Given the description of an element on the screen output the (x, y) to click on. 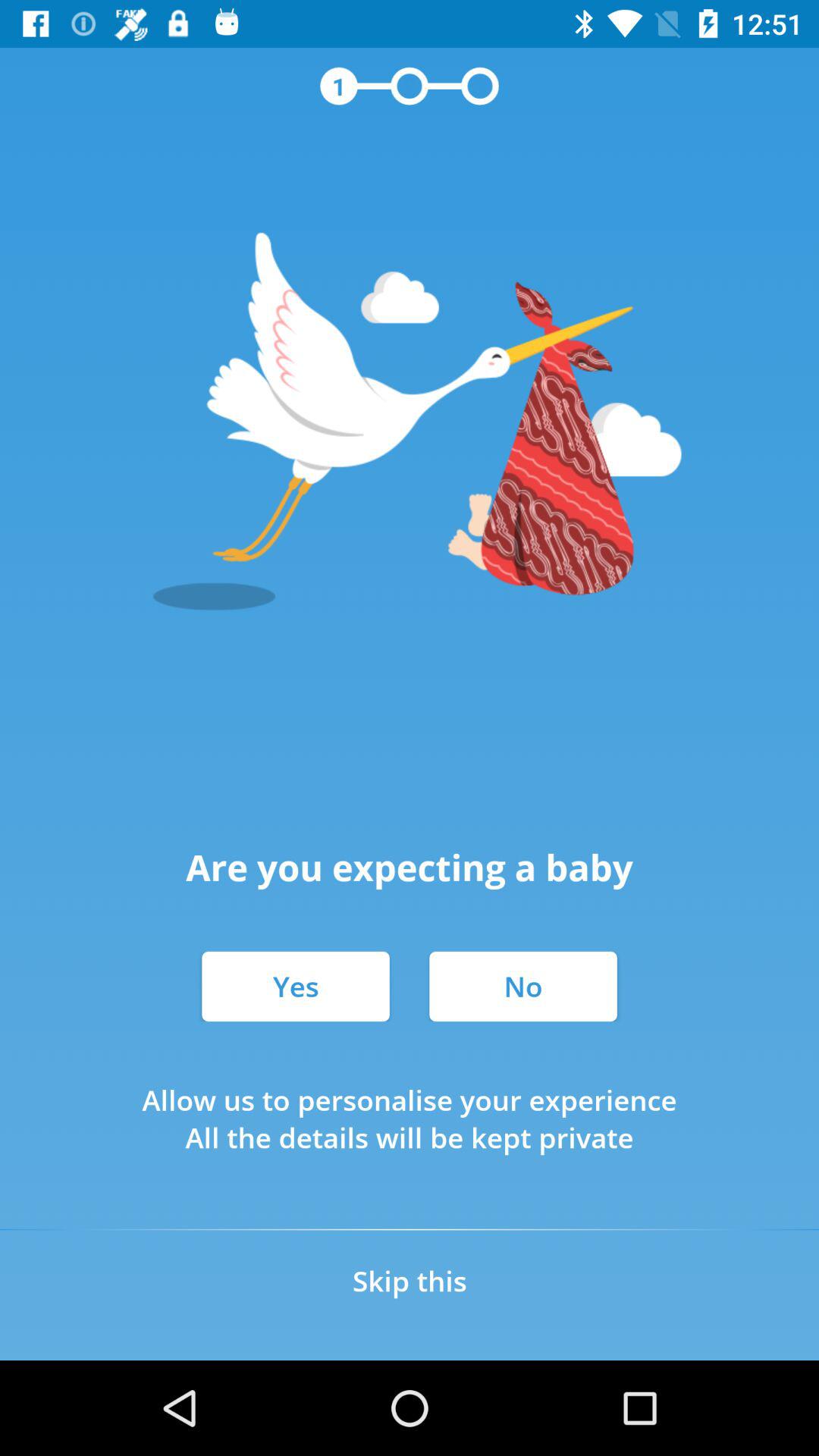
tap icon to the left of no item (295, 986)
